Given the description of an element on the screen output the (x, y) to click on. 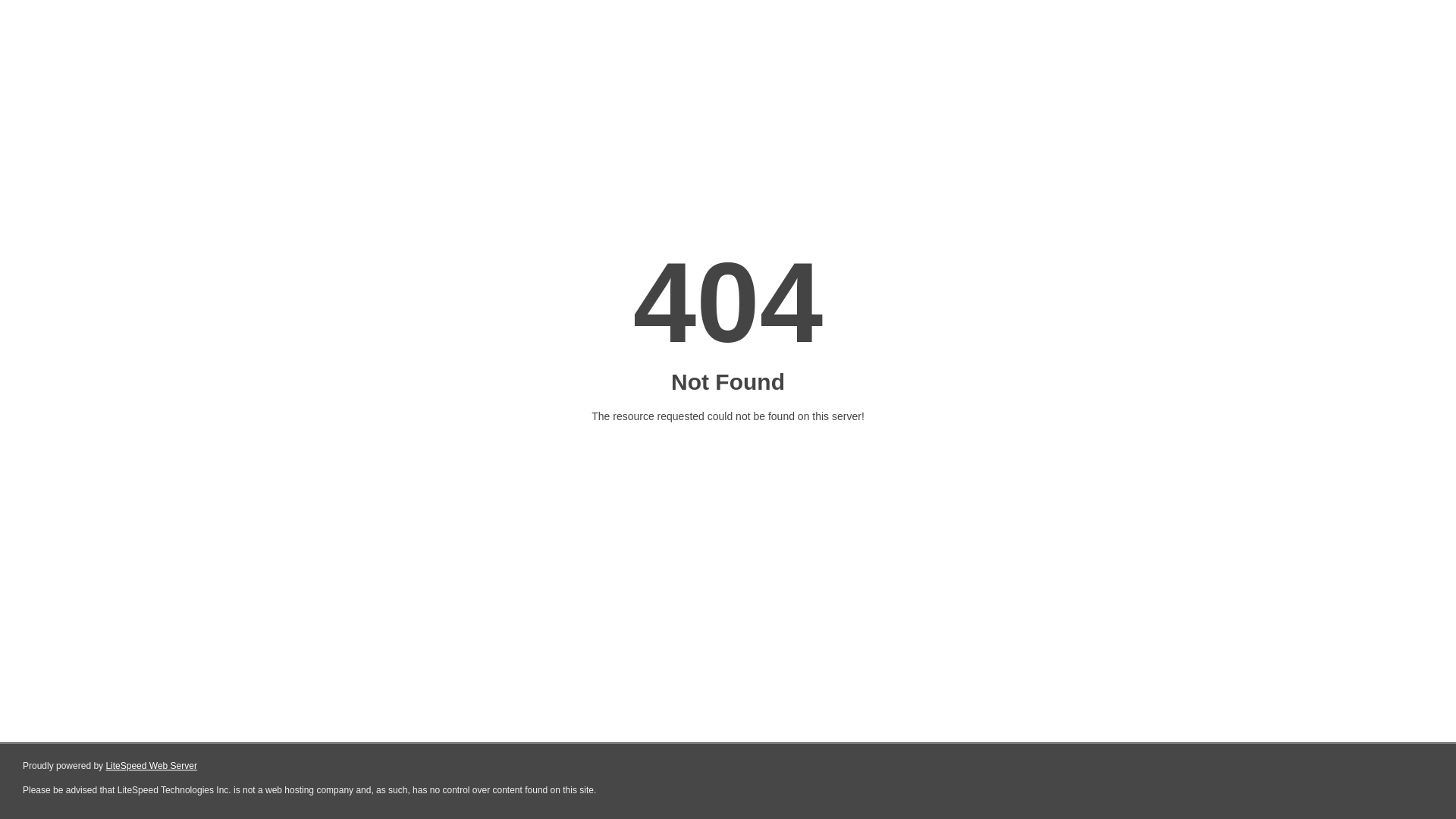
LiteSpeed Web Server Element type: text (151, 765)
